Given the description of an element on the screen output the (x, y) to click on. 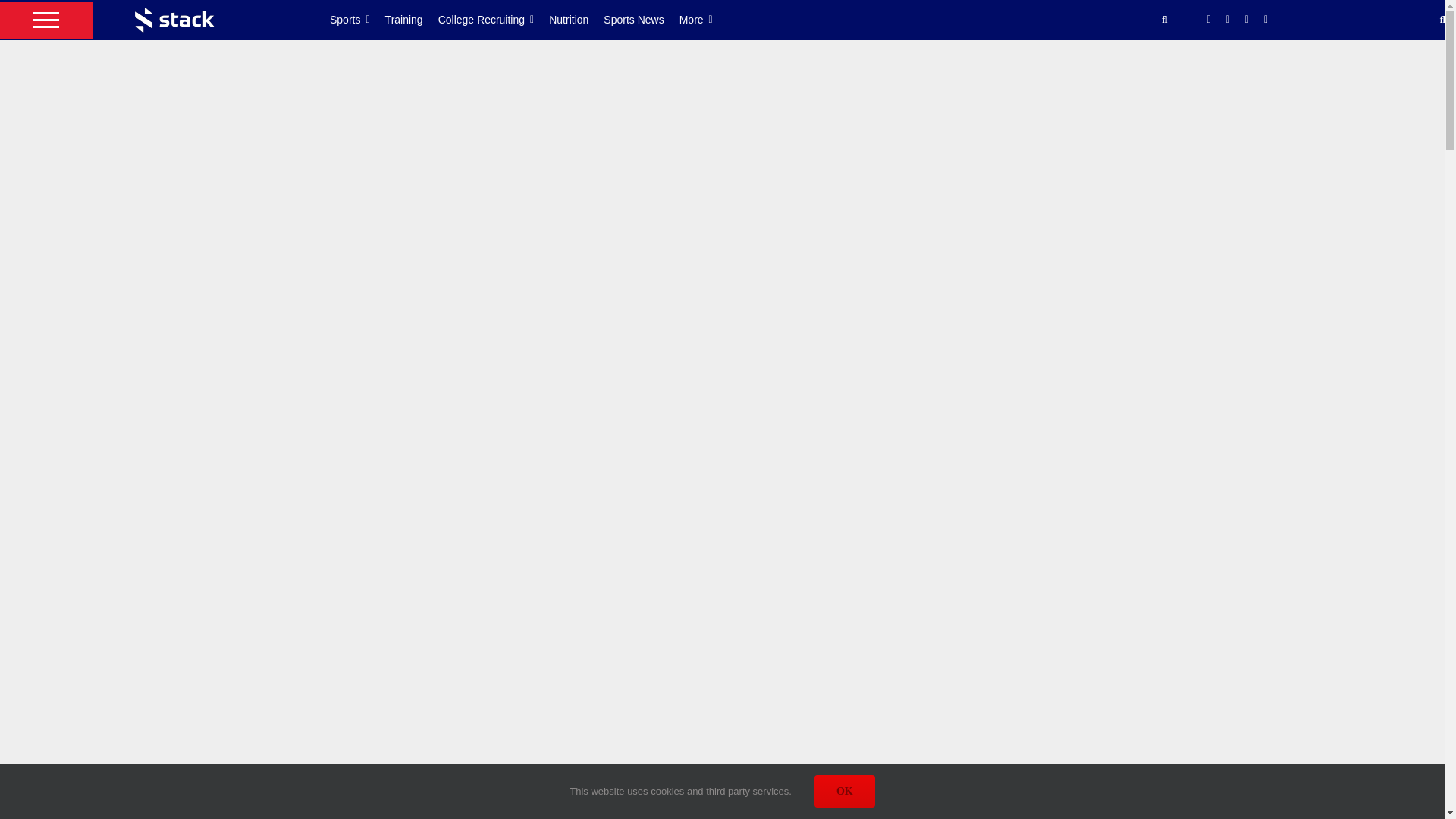
Sports News (641, 19)
Sports (357, 19)
Training (411, 19)
Nutrition (576, 19)
College Recruiting (494, 19)
More (703, 19)
